Given the description of an element on the screen output the (x, y) to click on. 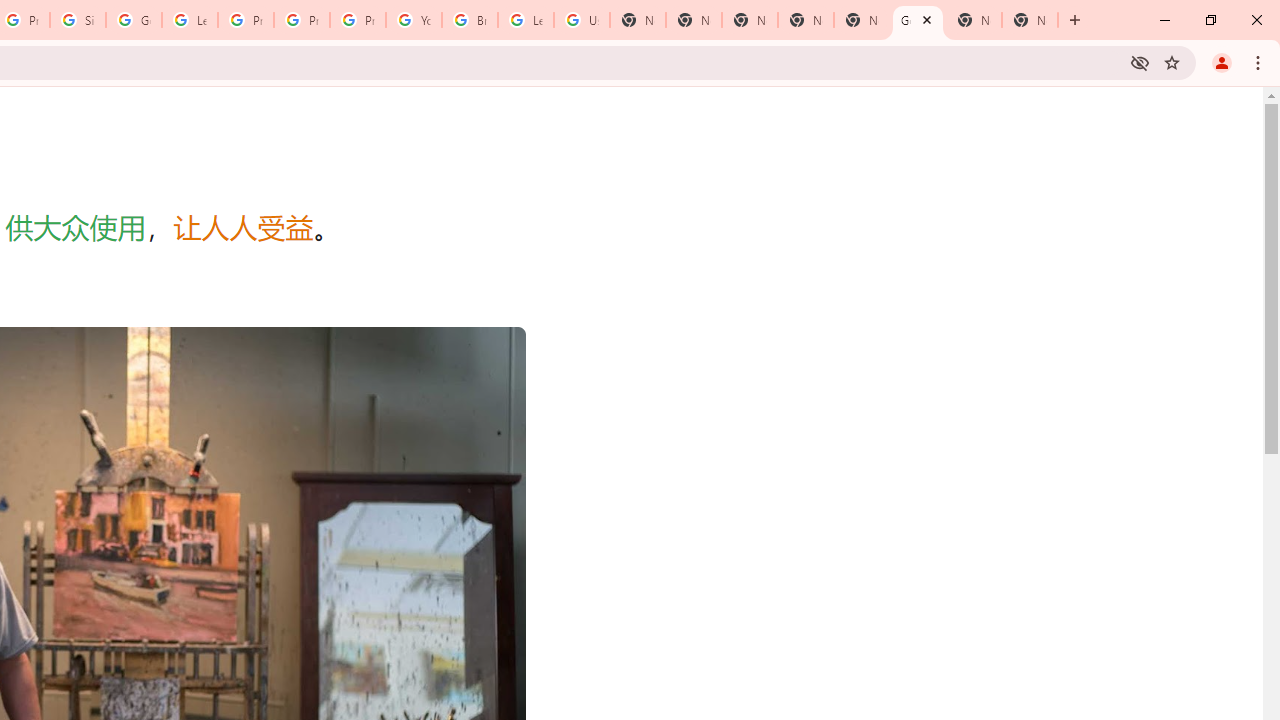
Privacy Help Center - Policies Help (245, 20)
Privacy Help Center - Policies Help (301, 20)
New Tab (749, 20)
YouTube (413, 20)
